Given the description of an element on the screen output the (x, y) to click on. 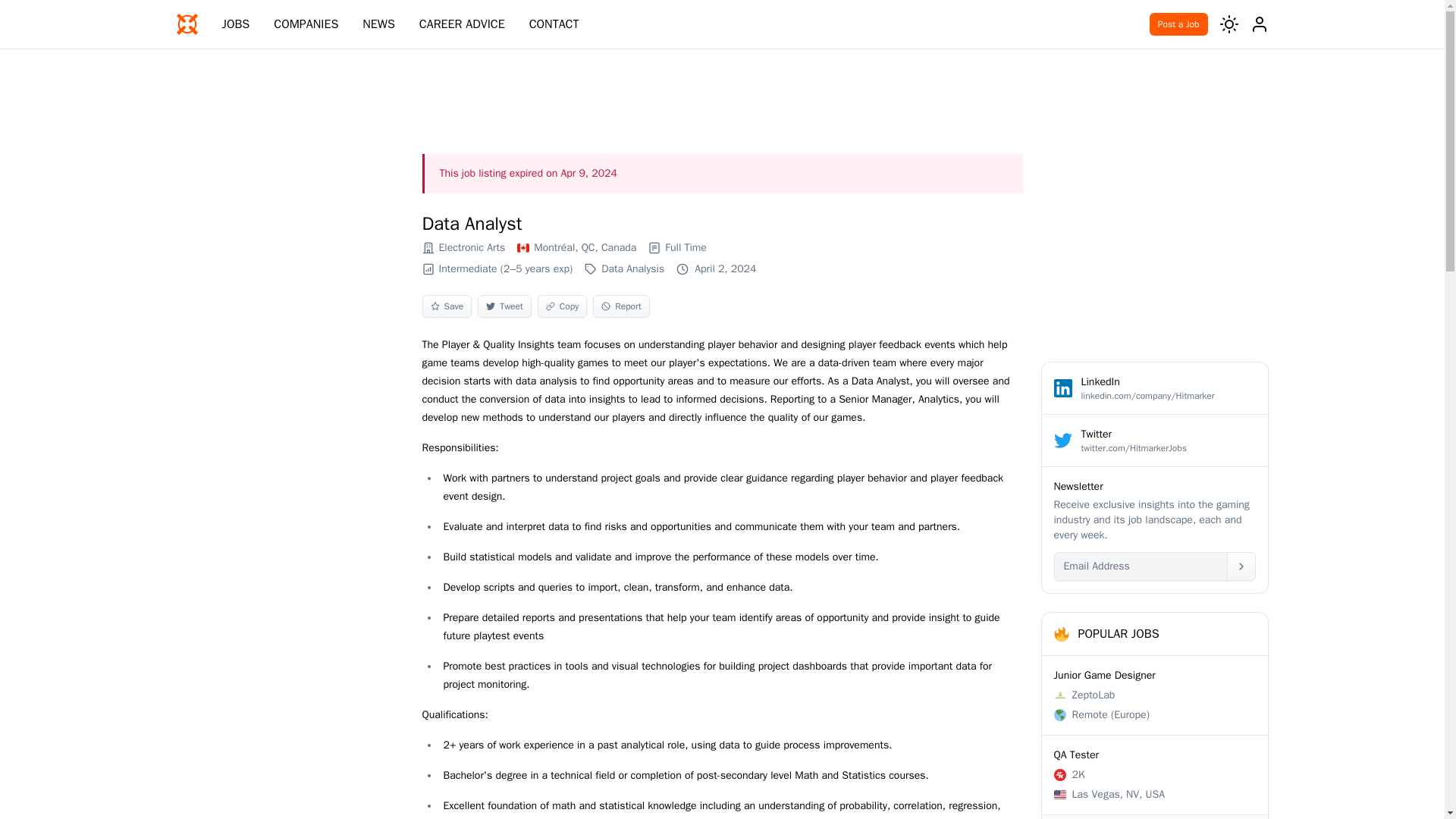
Post a Job (1155, 816)
Electronic Arts (1179, 24)
Report (471, 247)
Save (620, 305)
Copy (446, 305)
Full Time (561, 305)
CONTACT (685, 246)
CAREER ADVICE (554, 24)
COMPANIES (462, 24)
